Given the description of an element on the screen output the (x, y) to click on. 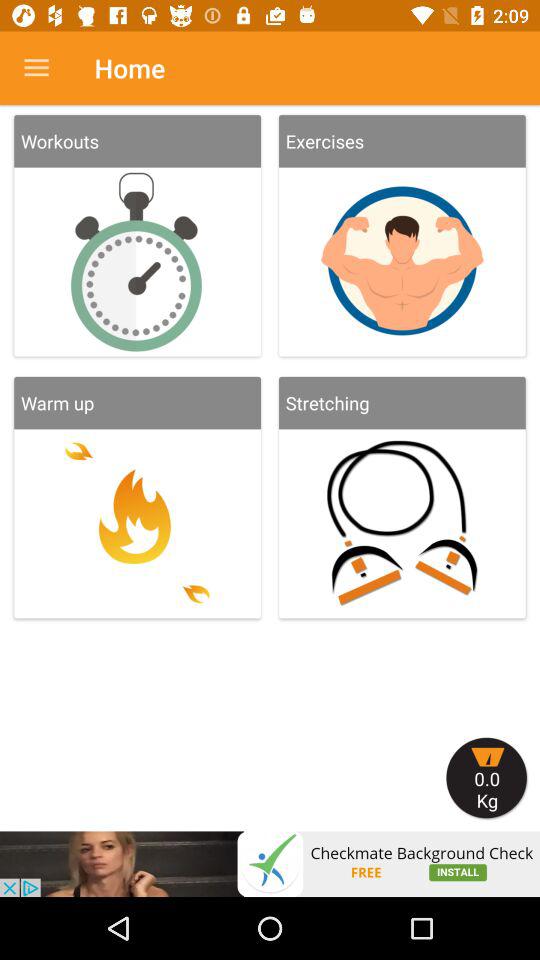
kilo kram button (487, 778)
